Given the description of an element on the screen output the (x, y) to click on. 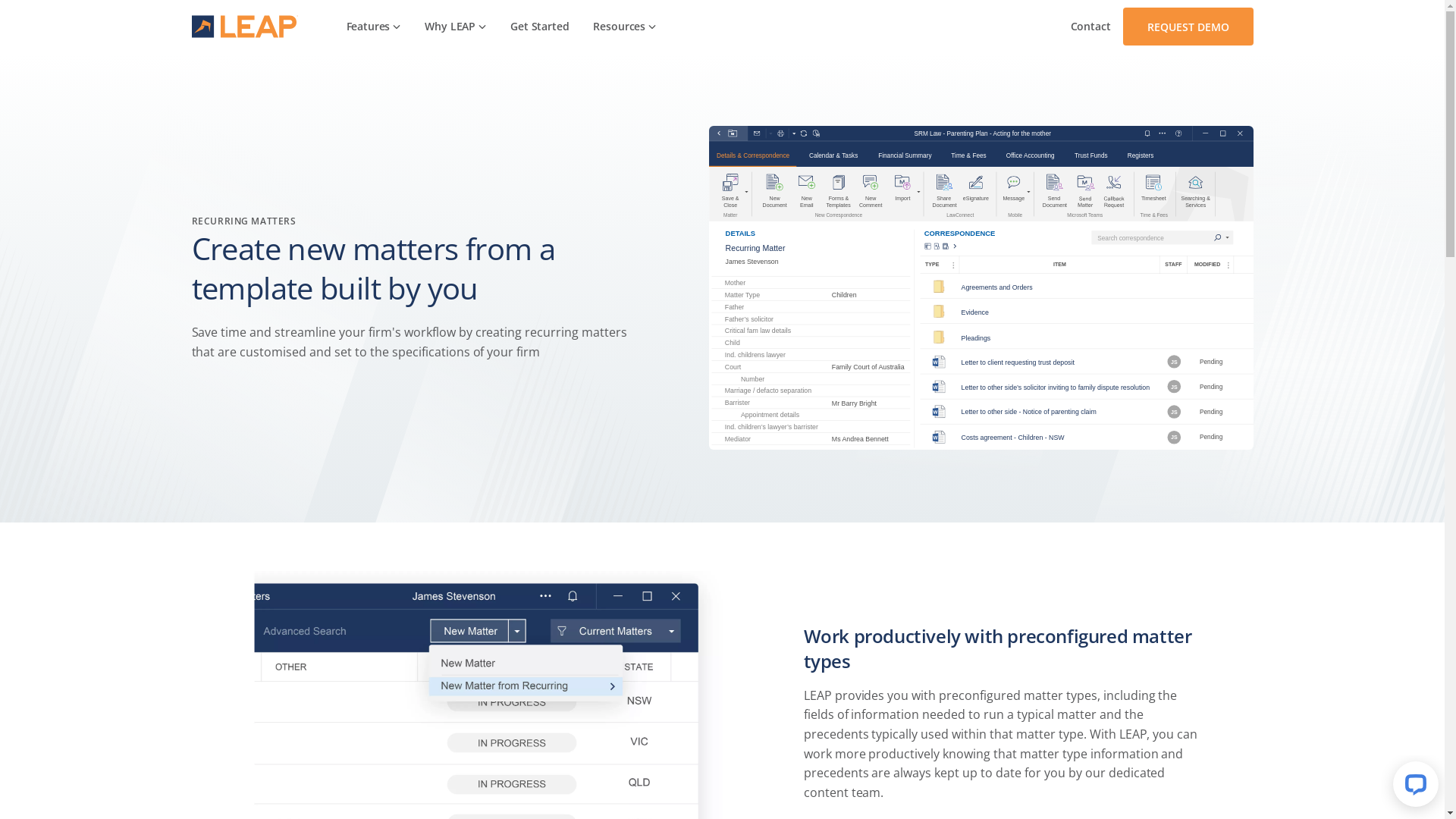
Get Started Element type: text (539, 26)
Contact Element type: text (1090, 26)
REQUEST DEMO Element type: text (1187, 26)
